Given the description of an element on the screen output the (x, y) to click on. 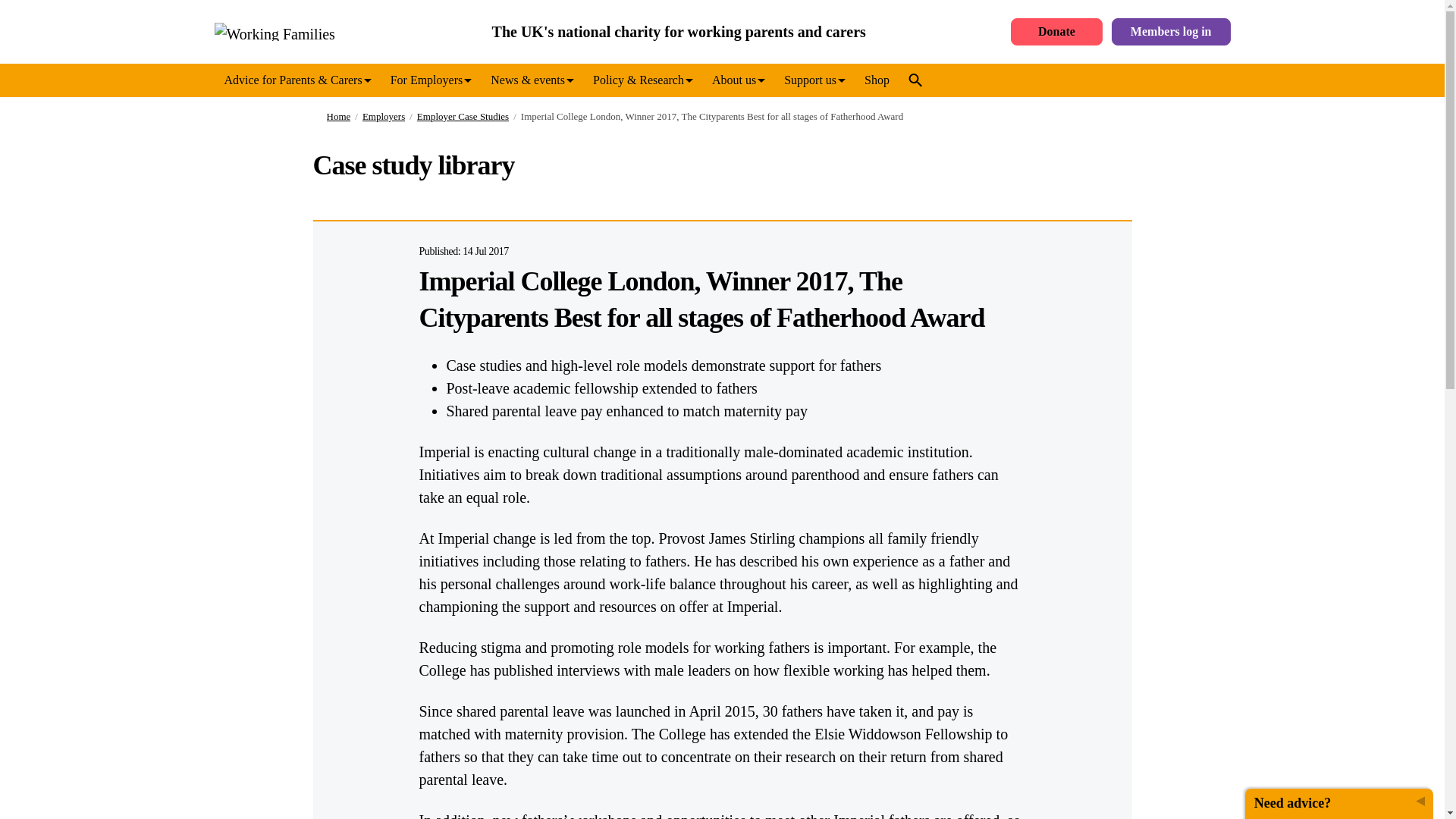
Members log in (1171, 31)
For Employers (430, 80)
Employers (377, 117)
Employer Case Studies (456, 117)
Donate (1056, 31)
